Given the description of an element on the screen output the (x, y) to click on. 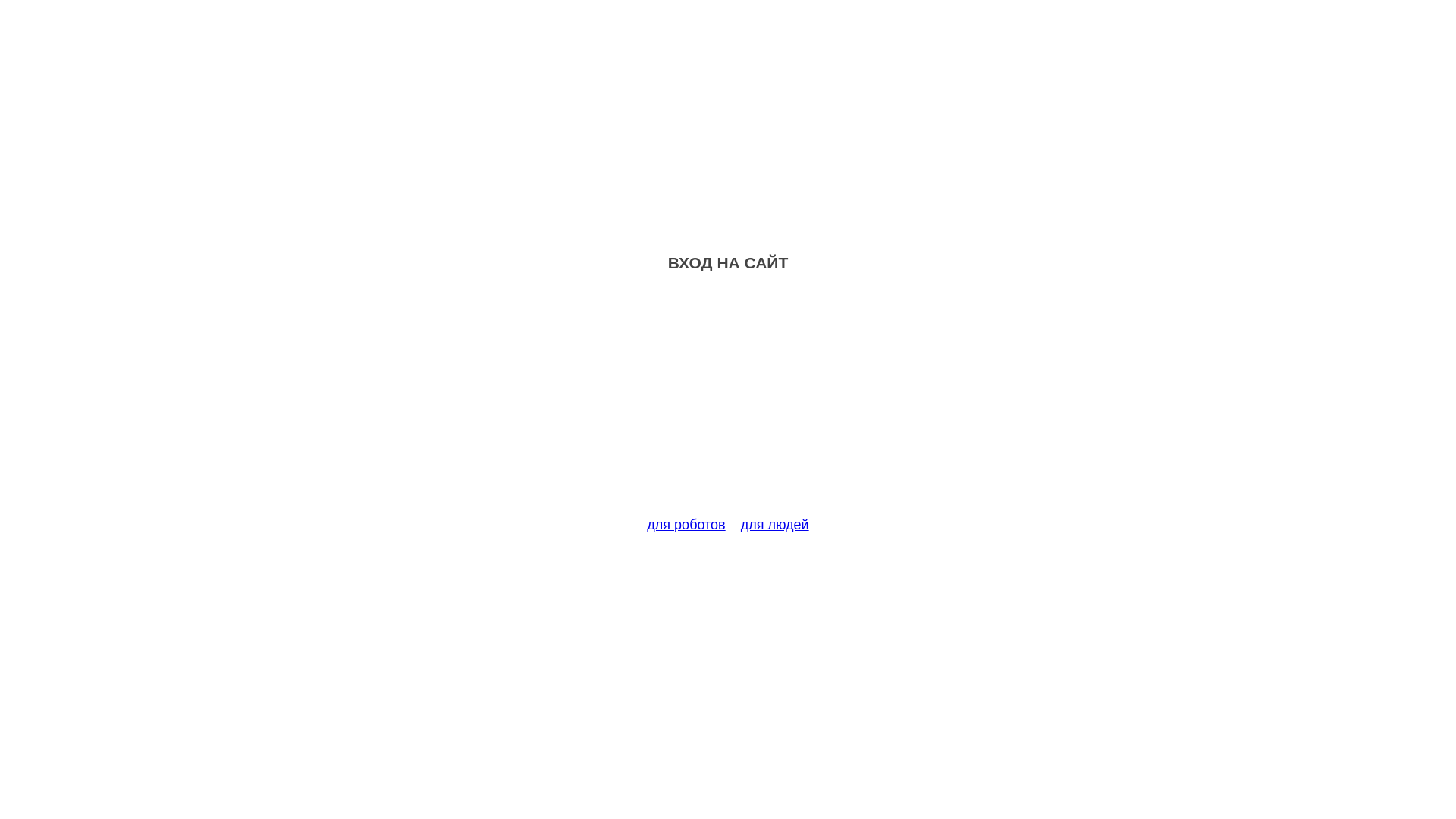
Advertisement Element type: hover (727, 403)
